Given the description of an element on the screen output the (x, y) to click on. 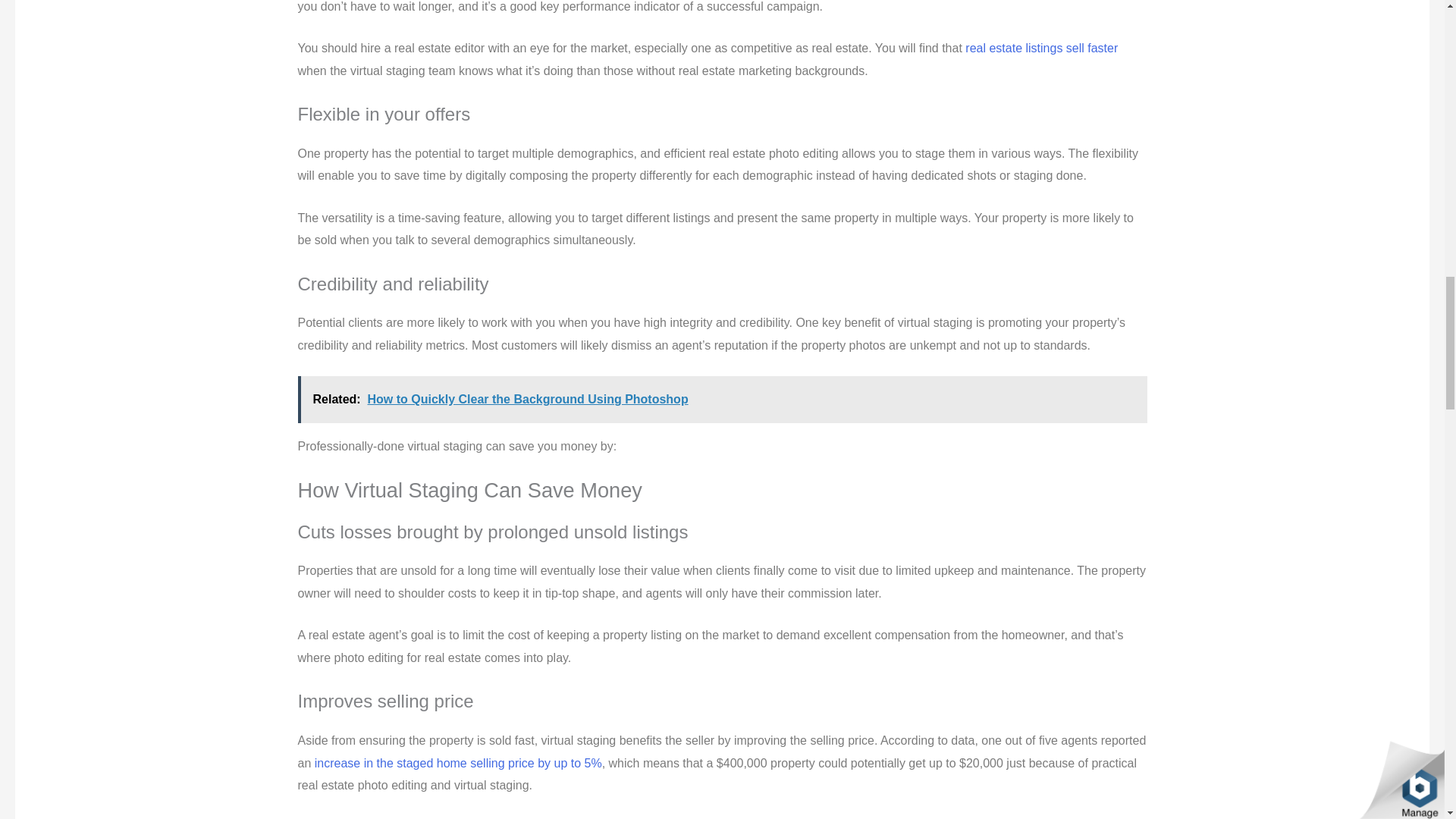
real estate listings sell faster (1041, 47)
